Given the description of an element on the screen output the (x, y) to click on. 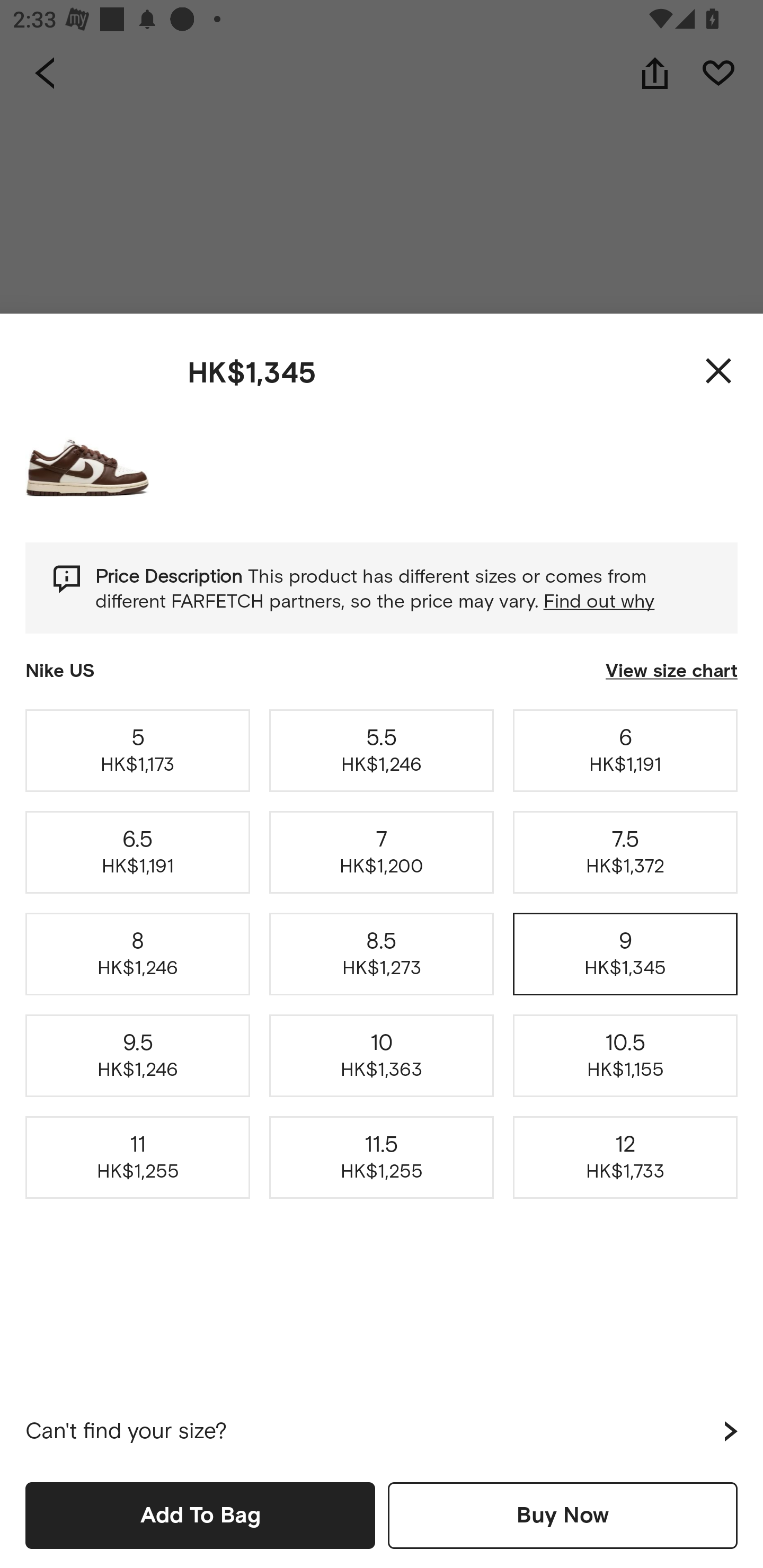
5 HK$1,173 (137, 749)
5.5 HK$1,246 (381, 749)
6 HK$1,191 (624, 749)
6.5 HK$1,191 (137, 851)
7 HK$1,200 (381, 851)
7.5 HK$1,372 (624, 851)
8 HK$1,246 (137, 953)
8.5 HK$1,273 (381, 953)
9 HK$1,345 (624, 953)
9.5 HK$1,246 (137, 1055)
10 HK$1,363 (381, 1055)
10.5 HK$1,155 (624, 1055)
11 HK$1,255 (137, 1157)
11.5 HK$1,255 (381, 1157)
12 HK$1,733 (624, 1157)
Can't find your size? (381, 1431)
Add To Bag (200, 1515)
Buy Now (562, 1515)
